Given the description of an element on the screen output the (x, y) to click on. 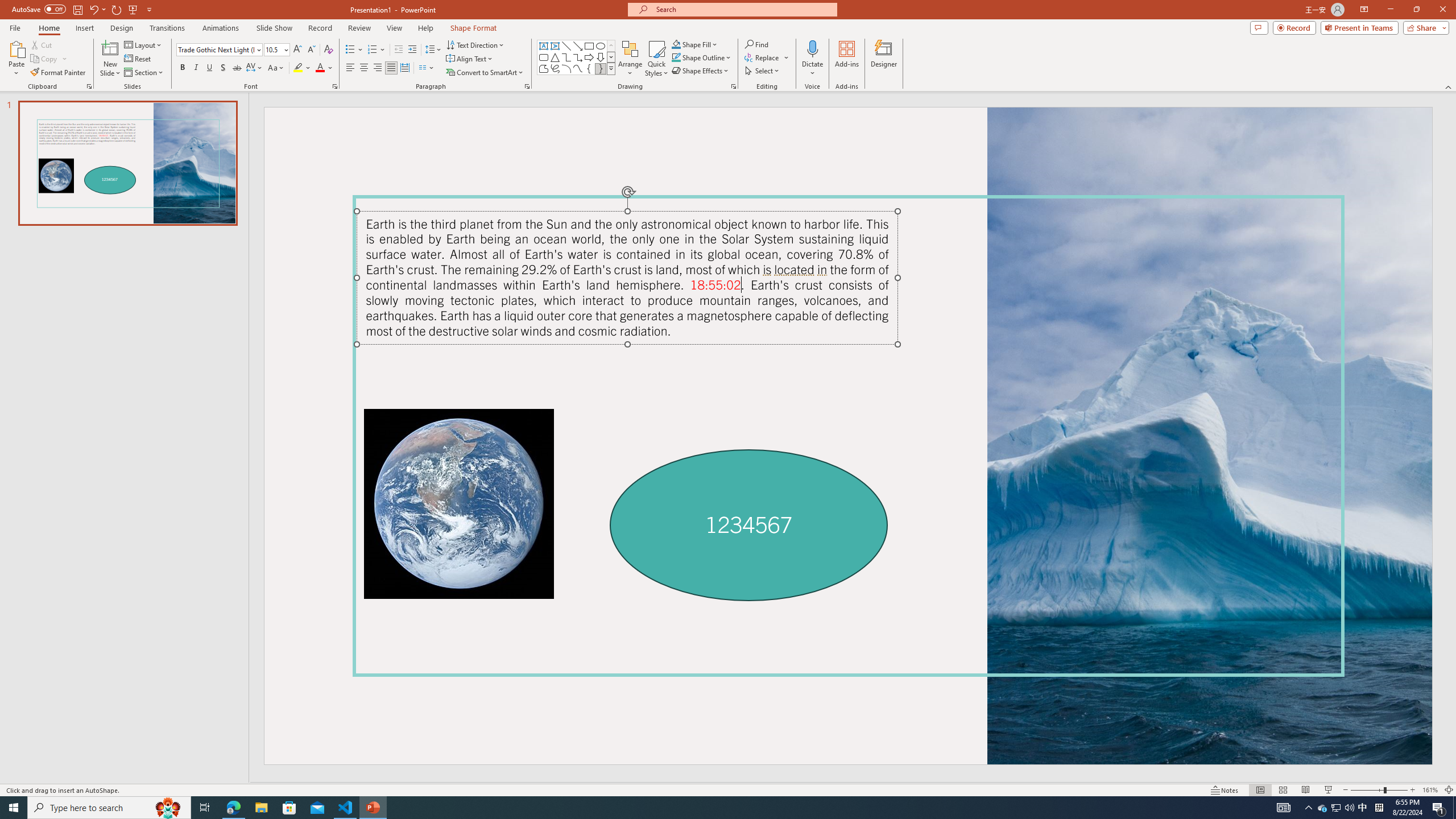
Bold (182, 67)
Layout (143, 44)
Rectangle: Rounded Corners (543, 57)
Justify (390, 67)
Text Direction (476, 44)
Isosceles Triangle (554, 57)
Decrease Font Size (310, 49)
Change Case (276, 67)
